Given the description of an element on the screen output the (x, y) to click on. 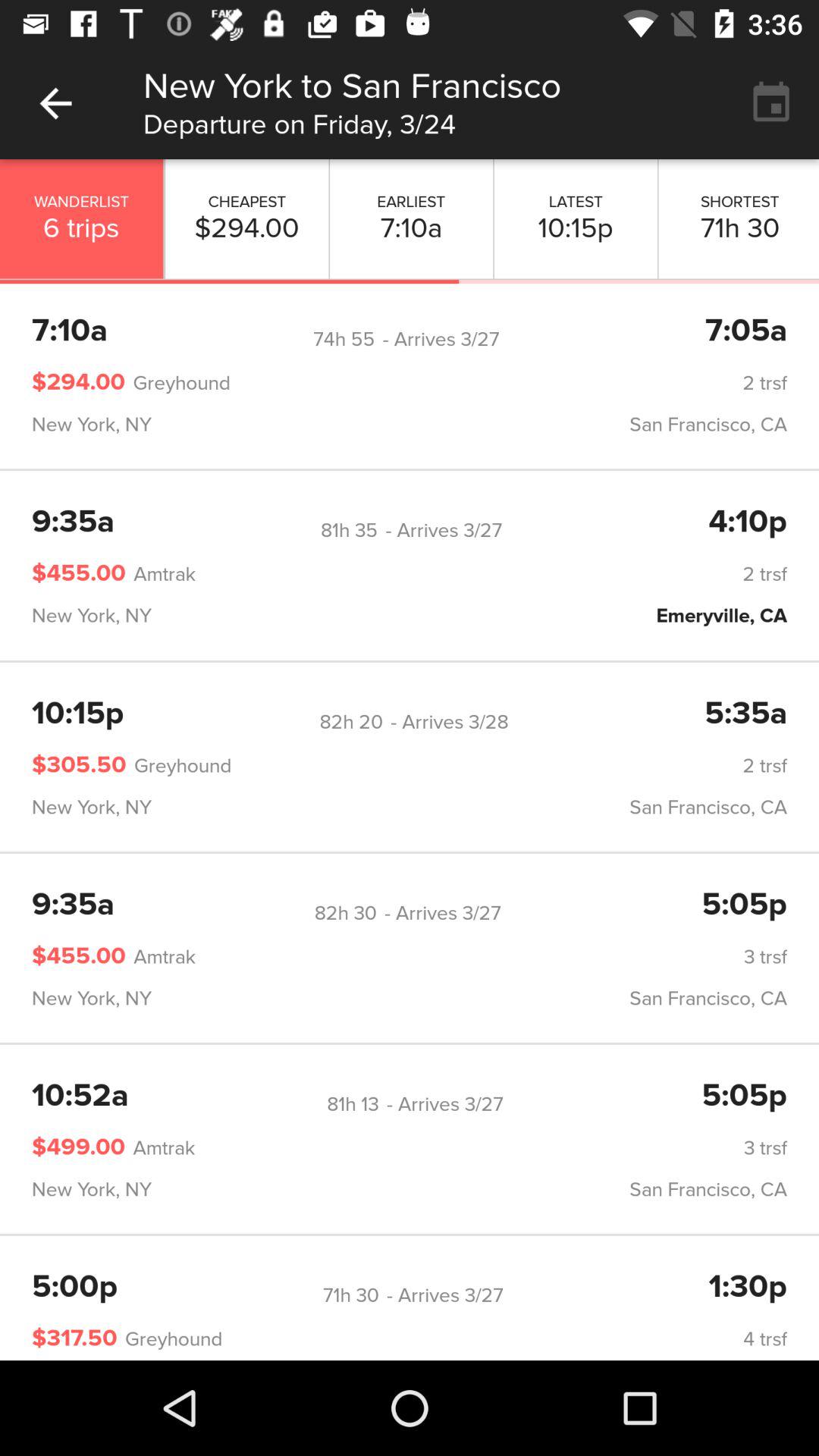
go back (55, 103)
